Given the description of an element on the screen output the (x, y) to click on. 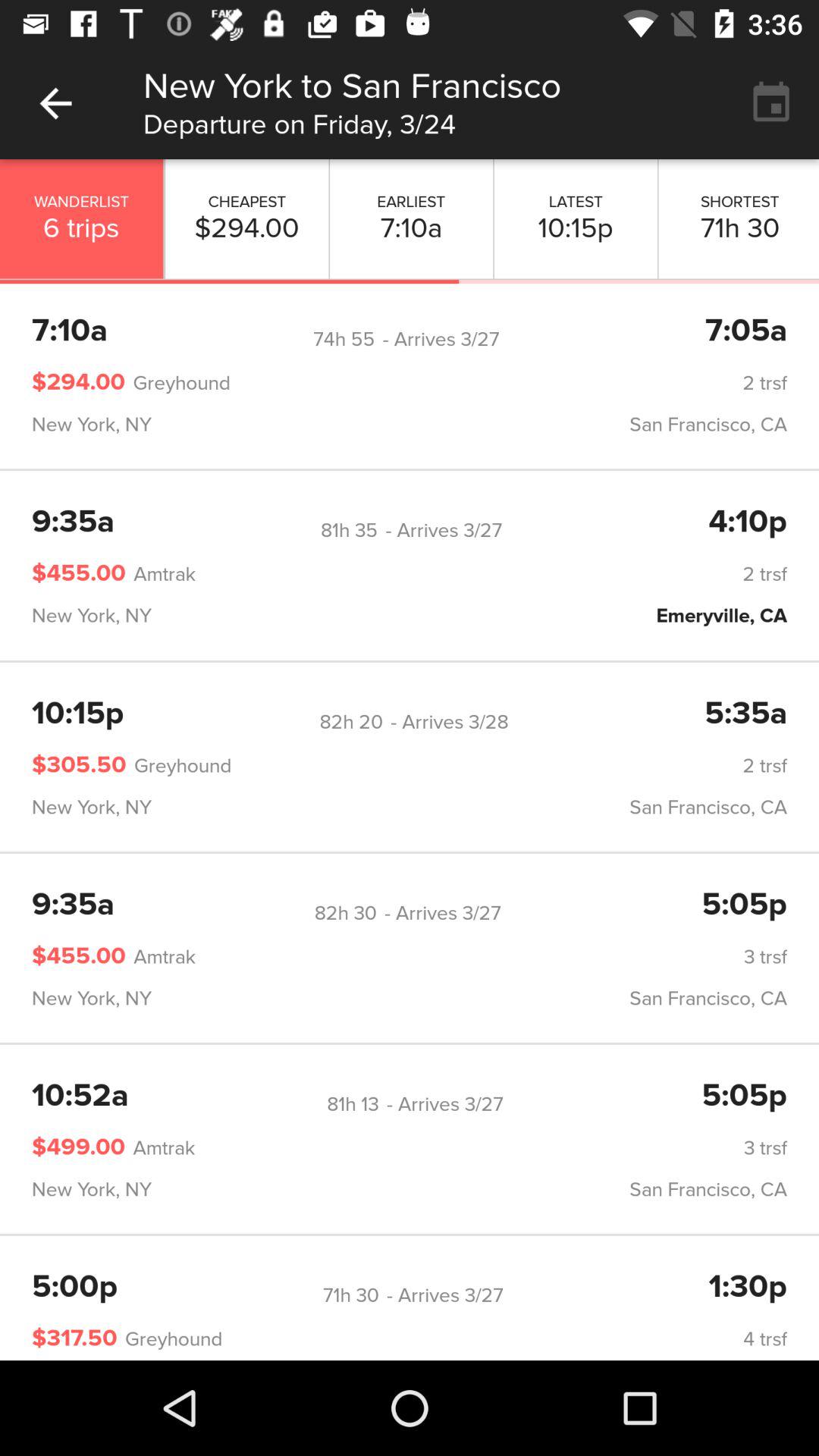
go back (55, 103)
